Given the description of an element on the screen output the (x, y) to click on. 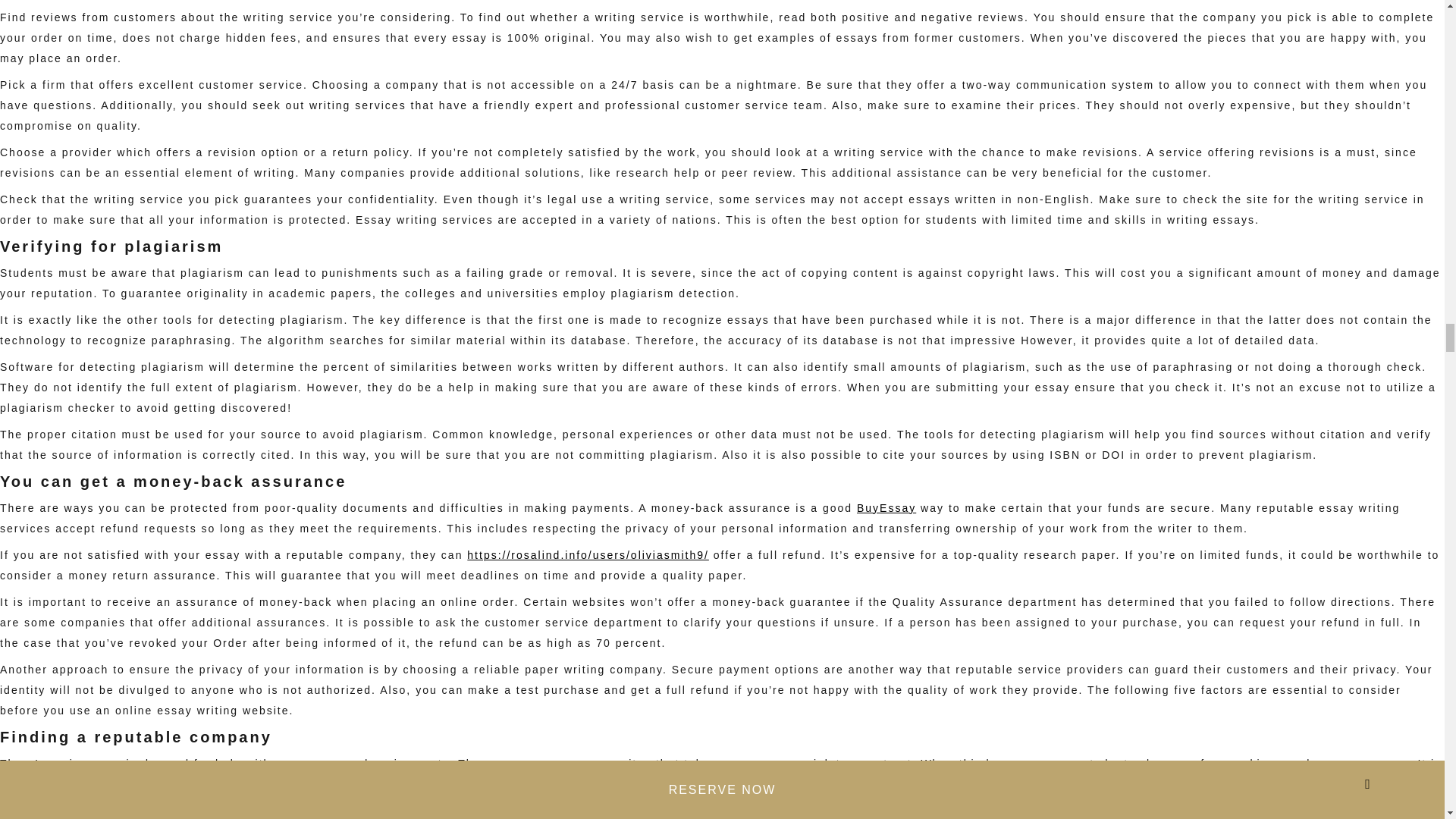
BuyEssay (886, 508)
